Given the description of an element on the screen output the (x, y) to click on. 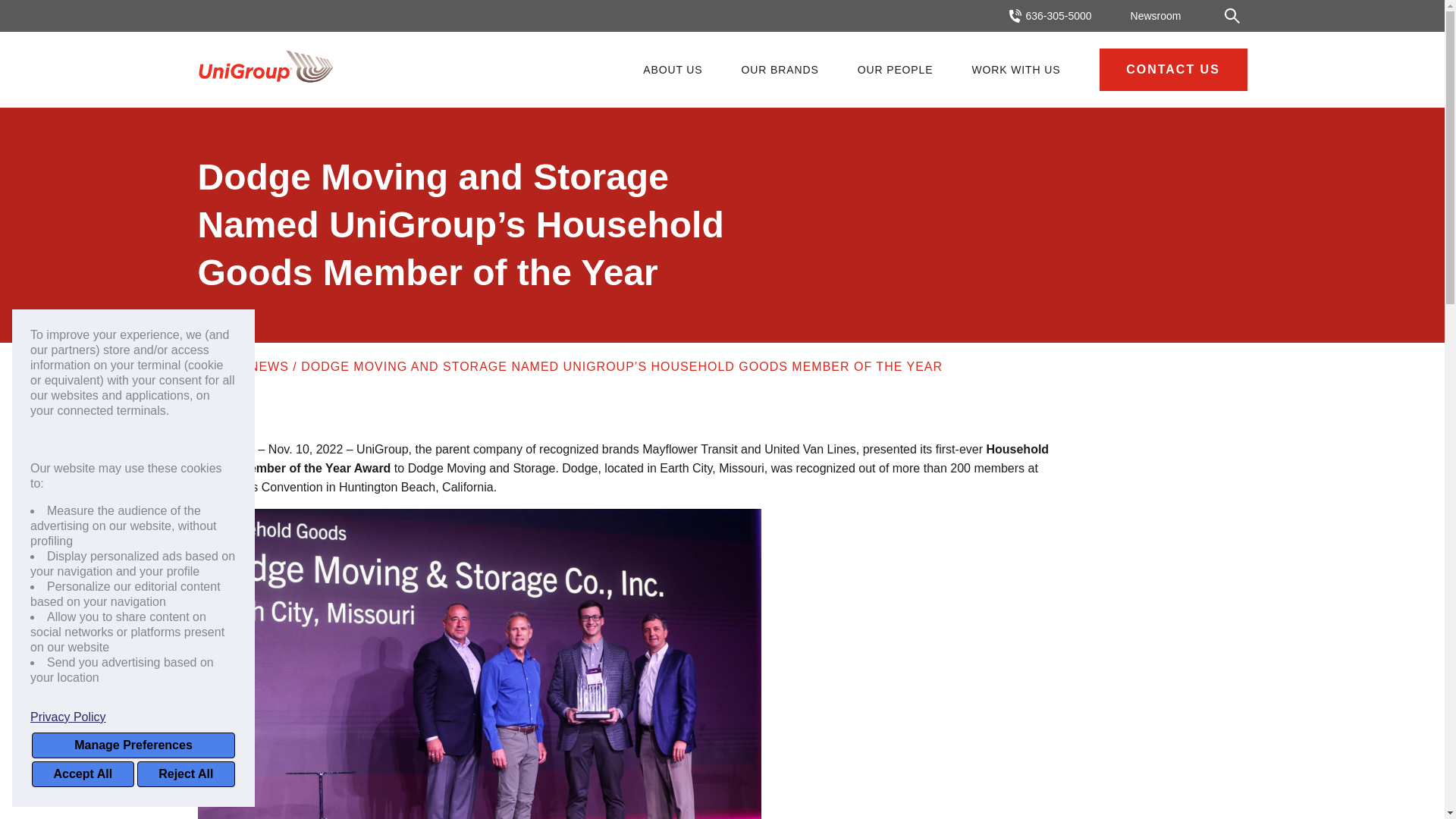
Newsroom (1155, 15)
OUR PEOPLE (895, 69)
HOME (215, 366)
NEWS (268, 366)
ABOUT US (672, 69)
Reject All (185, 774)
WORK WITH US (1015, 69)
636-305-5000 (1049, 15)
Manage Preferences (133, 745)
OUR BRANDS (780, 69)
